Given the description of an element on the screen output the (x, y) to click on. 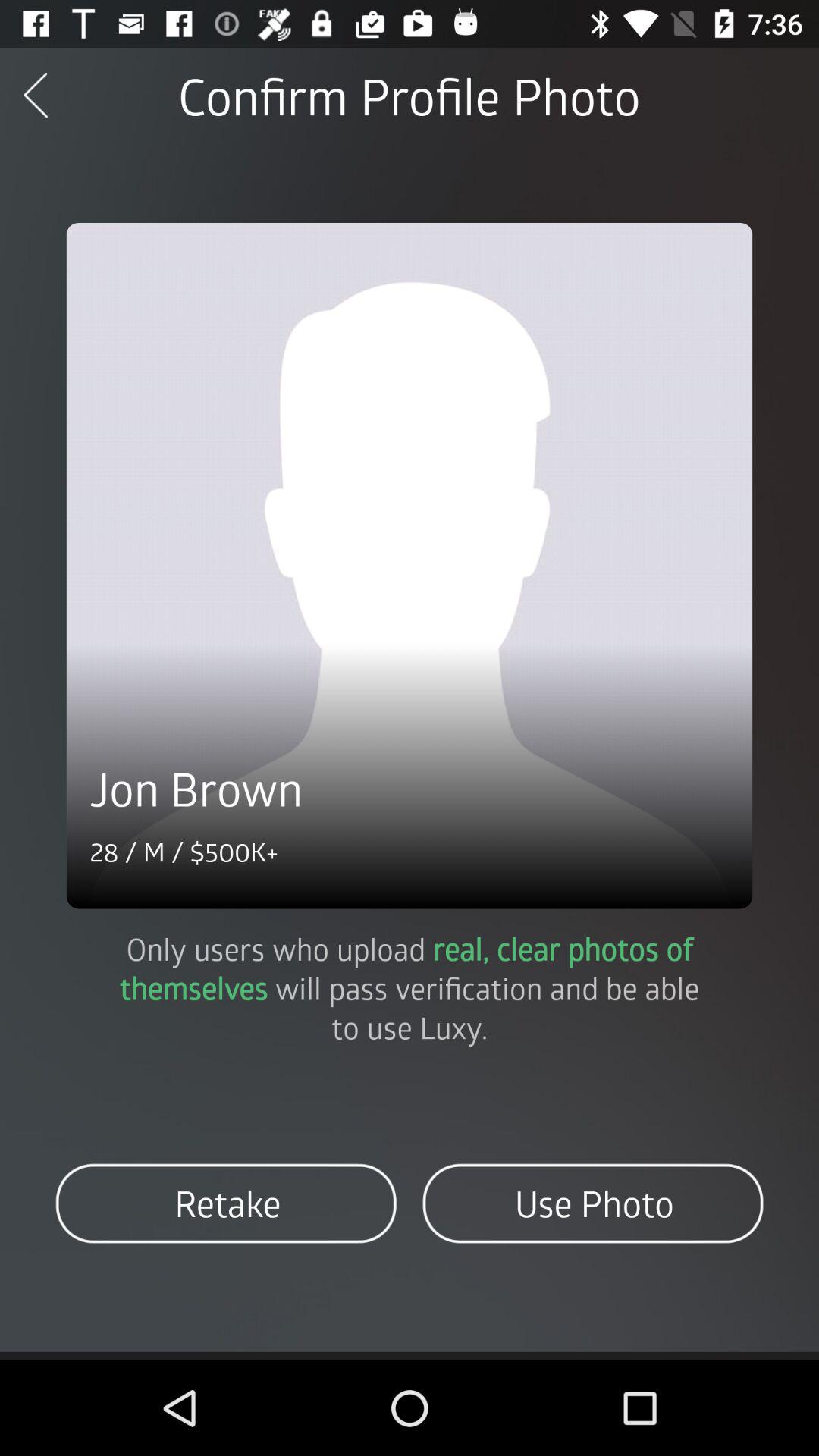
launch icon at the bottom left corner (225, 1203)
